Given the description of an element on the screen output the (x, y) to click on. 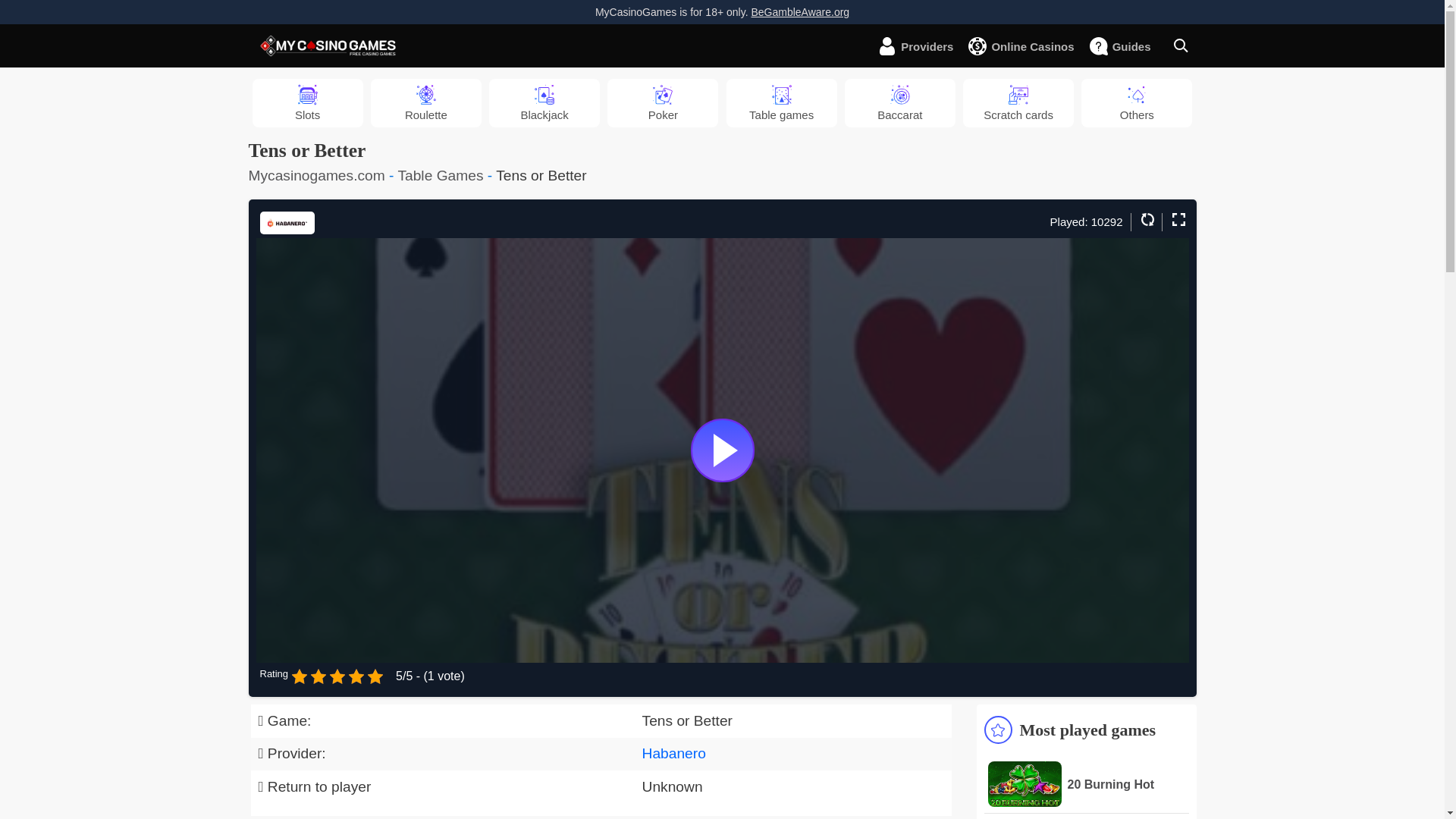
Online Casinos (1028, 45)
MyCasinoGames.com (327, 46)
Guides (1127, 45)
BeGambleAware.org (799, 11)
Providers (922, 45)
